Given the description of an element on the screen output the (x, y) to click on. 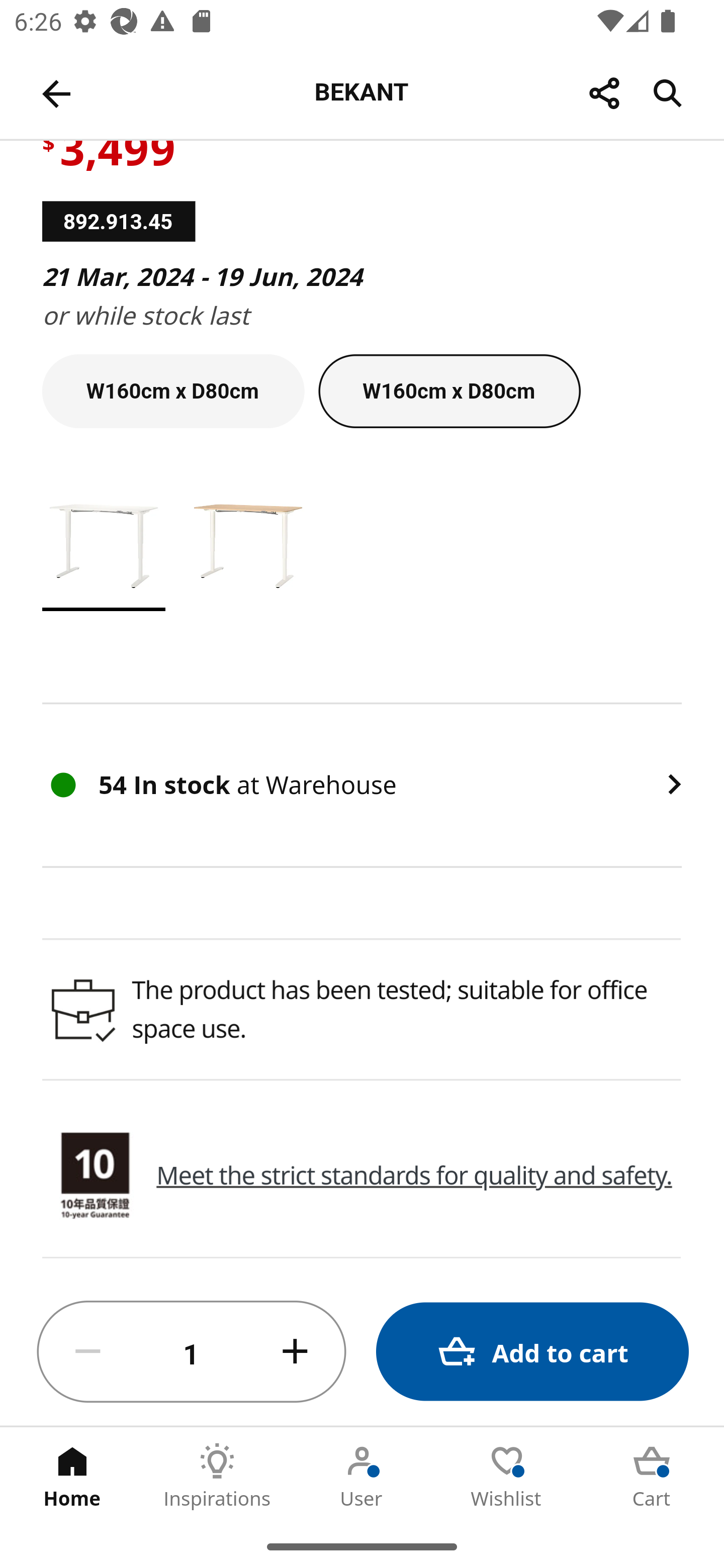
W160cm x D80cm (172, 391)
W160cm x D80cm (449, 391)
54 In stock at Warehouse (361, 784)
desk-table-storage-guarantee (94, 1176)
Meet the strict standards for quality and safety. (414, 1175)
Add to cart (531, 1352)
1 (191, 1352)
Home
Tab 1 of 5 (72, 1476)
Inspirations
Tab 2 of 5 (216, 1476)
User
Tab 3 of 5 (361, 1476)
Wishlist
Tab 4 of 5 (506, 1476)
Cart
Tab 5 of 5 (651, 1476)
